Given the description of an element on the screen output the (x, y) to click on. 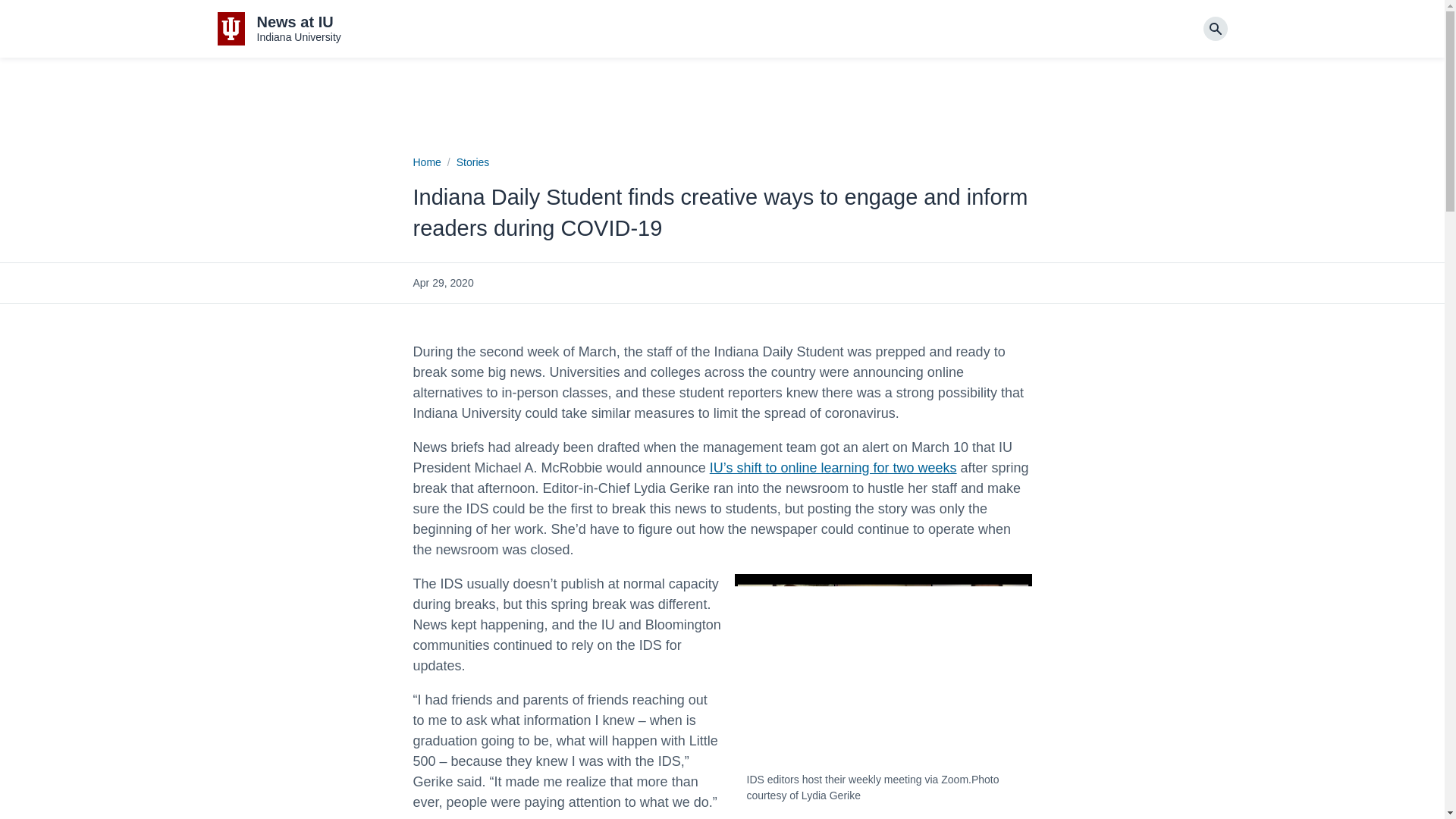
Home (426, 162)
Stories (473, 162)
Search (278, 28)
